Given the description of an element on the screen output the (x, y) to click on. 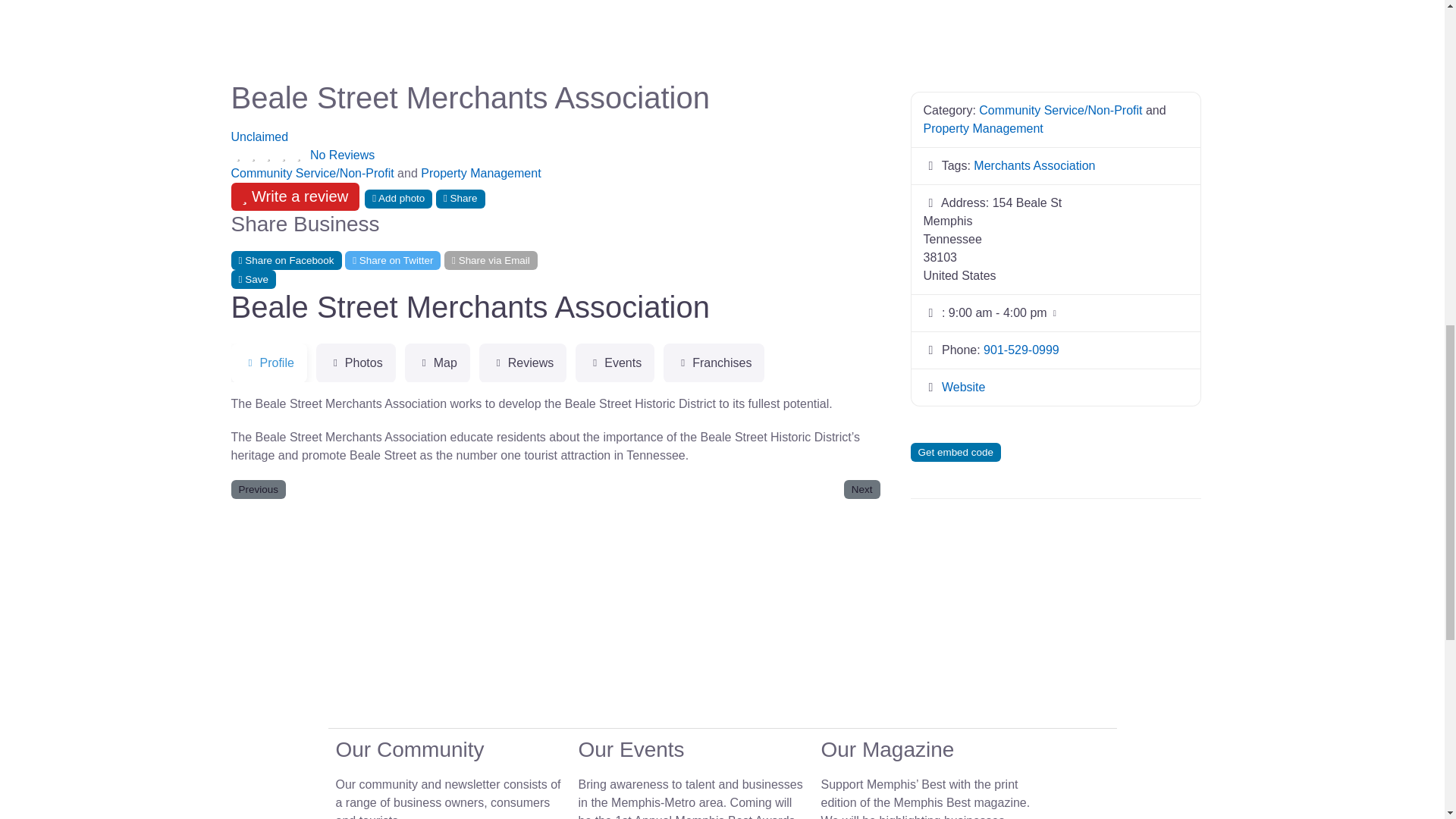
Events (614, 363)
Photos (355, 363)
Map (437, 363)
Profile (267, 363)
No rating yet! (267, 155)
Reviews (522, 363)
Franchises (713, 363)
Expand opening hours (997, 312)
